Given the description of an element on the screen output the (x, y) to click on. 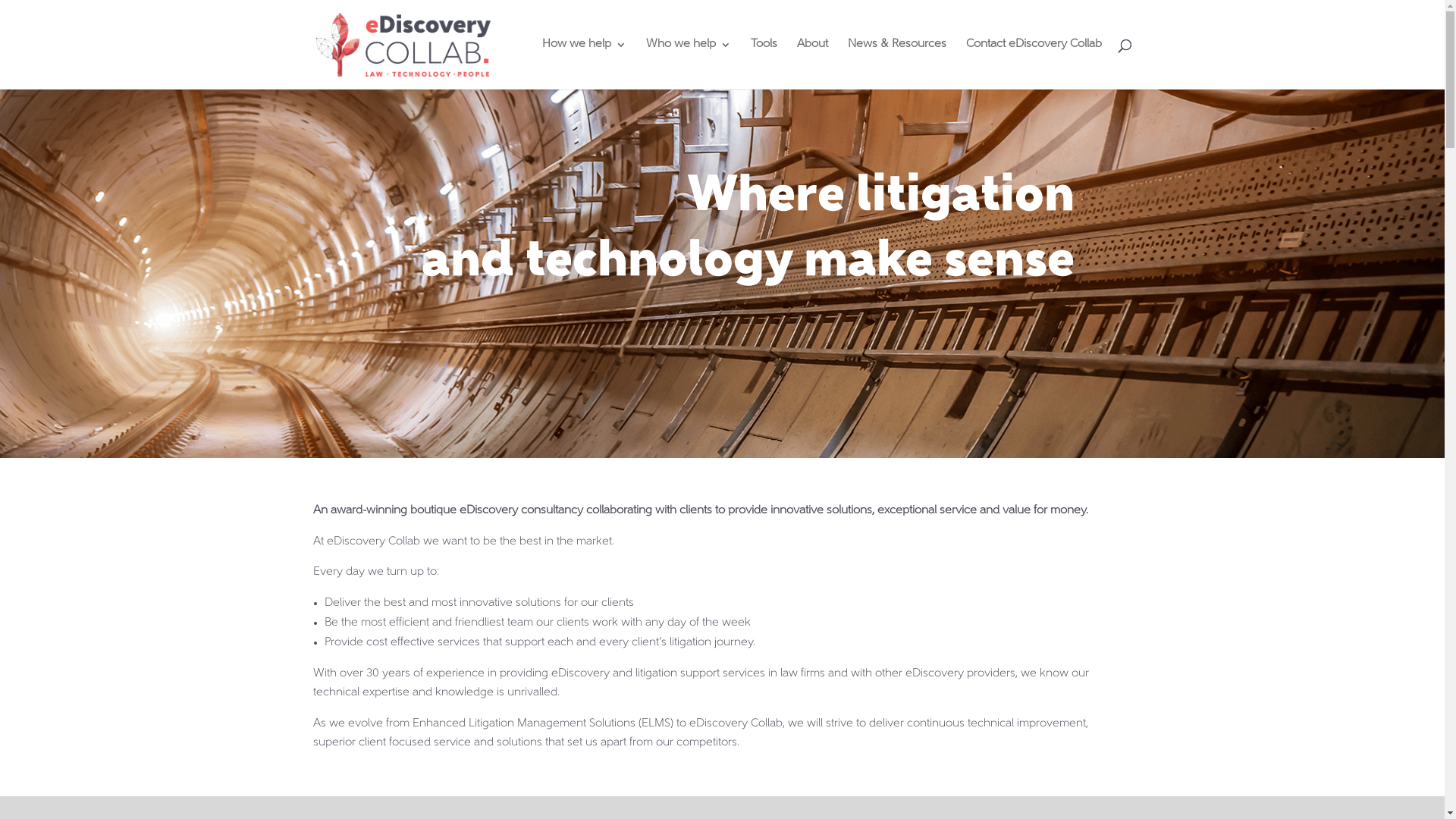
Who we help Element type: text (688, 64)
Tools Element type: text (763, 64)
Contact eDiscovery Collab Element type: text (1033, 64)
How we help Element type: text (583, 64)
News & Resources Element type: text (896, 64)
About Element type: text (811, 64)
